Given the description of an element on the screen output the (x, y) to click on. 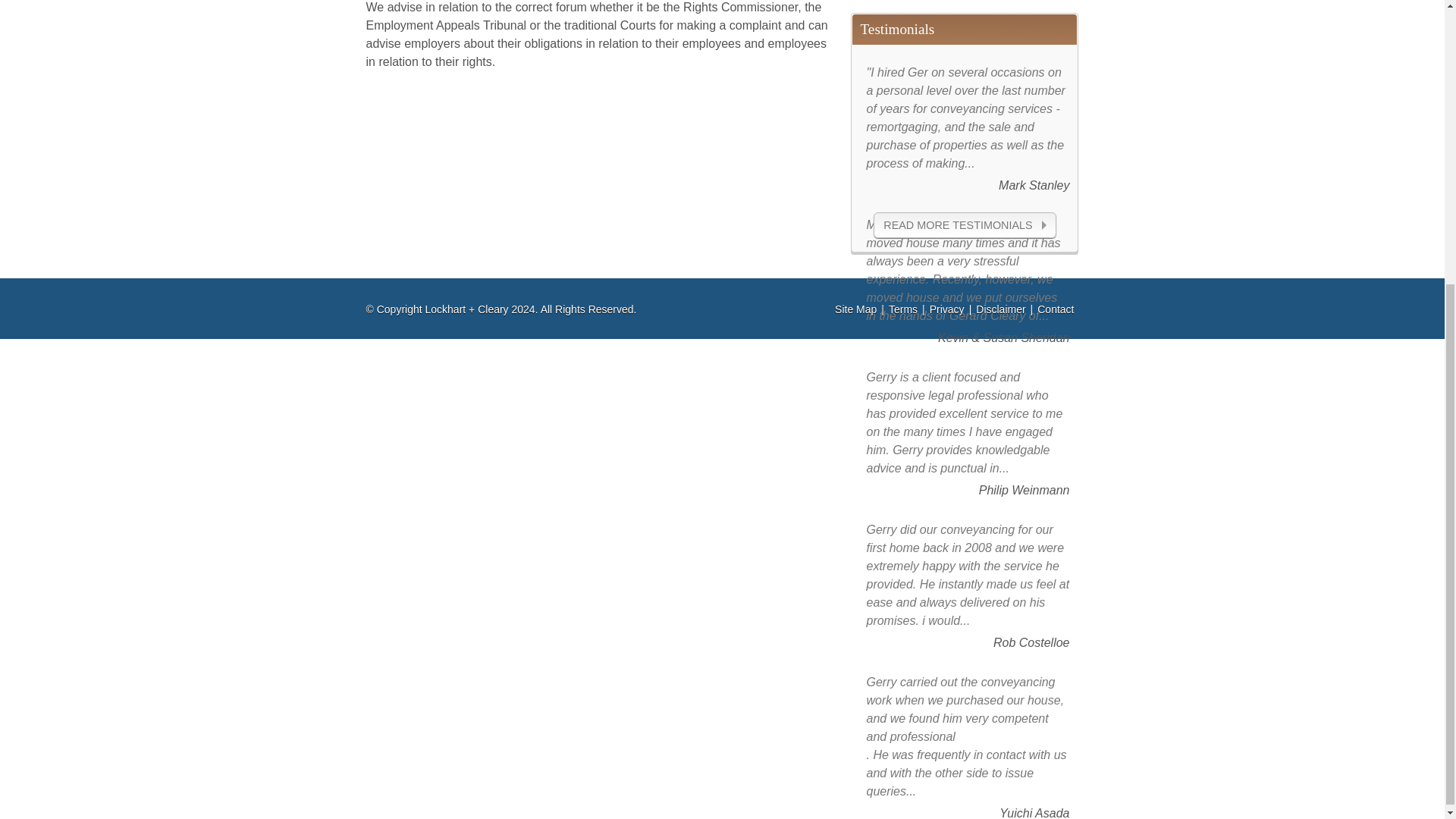
Terms (904, 309)
READ MORE TESTIMONIALS (964, 225)
Site Map (857, 309)
Disclaimer (1002, 309)
Privacy (949, 309)
Contact (1057, 309)
